Given the description of an element on the screen output the (x, y) to click on. 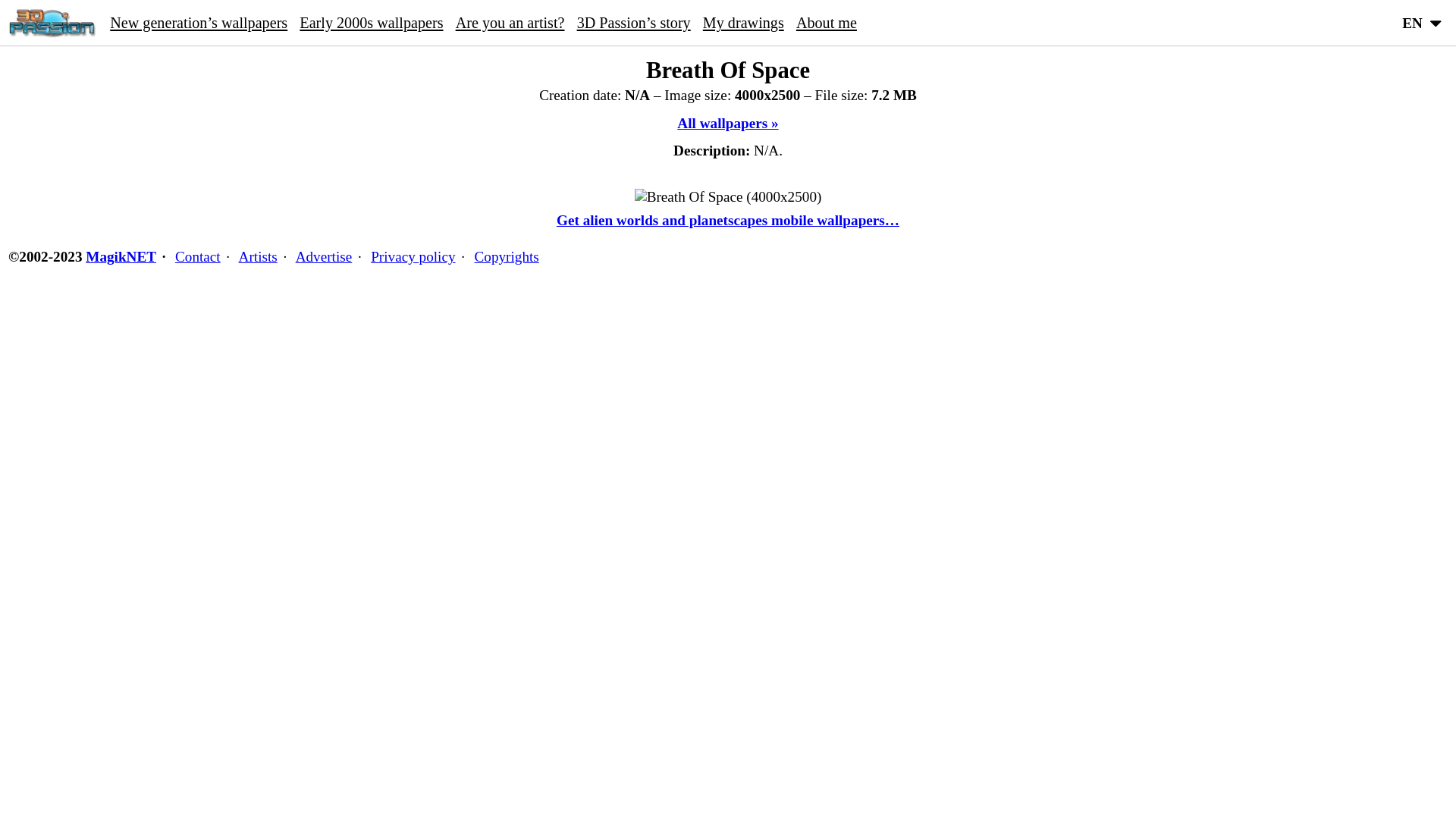
MagikNET Element type: text (120, 256)
Advertise Element type: text (323, 256)
Contact Element type: text (197, 256)
Privacy policy Element type: text (412, 256)
Artists Element type: text (257, 256)
3D Passion home Element type: hover (51, 22)
Are you an artist? Element type: text (509, 22)
Early 2000s wallpapers Element type: text (370, 22)
My drawings Element type: text (743, 22)
Copyrights Element type: text (506, 256)
About me Element type: text (826, 22)
